Given the description of an element on the screen output the (x, y) to click on. 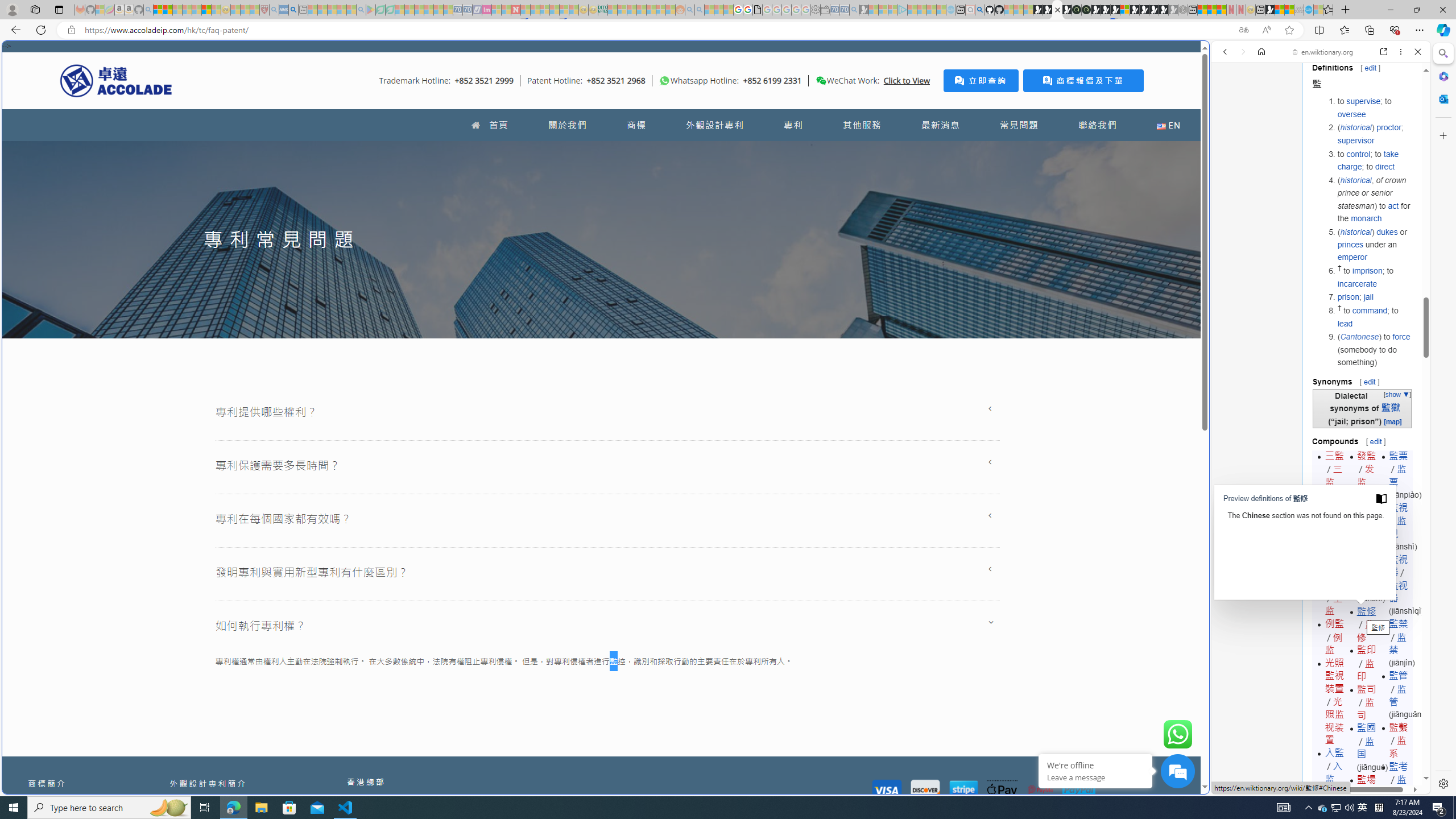
github - Search (979, 9)
Microsoft Start Gaming - Sleeping (863, 9)
World - MSN (727, 389)
en.wiktionary.org (1323, 51)
This site scope (1259, 102)
Pets - MSN - Sleeping (340, 9)
Kinda Frugal - MSN - Sleeping (651, 9)
